Given the description of an element on the screen output the (x, y) to click on. 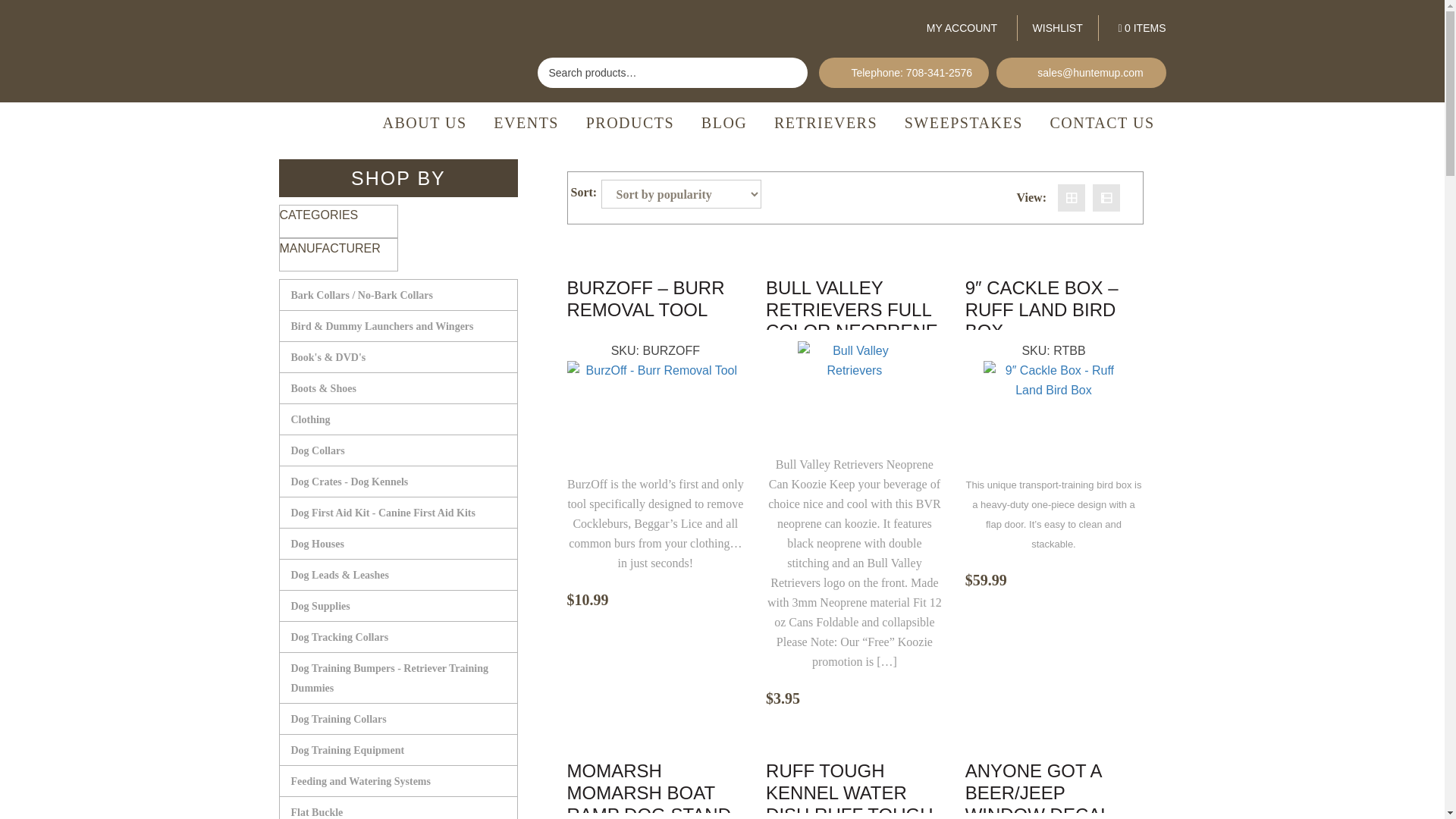
Grid view (1071, 197)
708-341-2576 (938, 72)
CONTACT US (1102, 123)
List view (1106, 197)
HUNTEMUP (377, 72)
SWEEPSTAKES (963, 123)
PRODUCTS (630, 123)
0 ITEMS (1134, 28)
RETRIEVERS (825, 123)
WISHLIST (1057, 27)
Search (789, 72)
BLOG (724, 123)
Start shopping (1134, 28)
ABOUT US (425, 123)
BULL VALLEY RETRIEVERS FULL COLOR NEOPRENE CAN KOO... (854, 303)
